Given the description of an element on the screen output the (x, y) to click on. 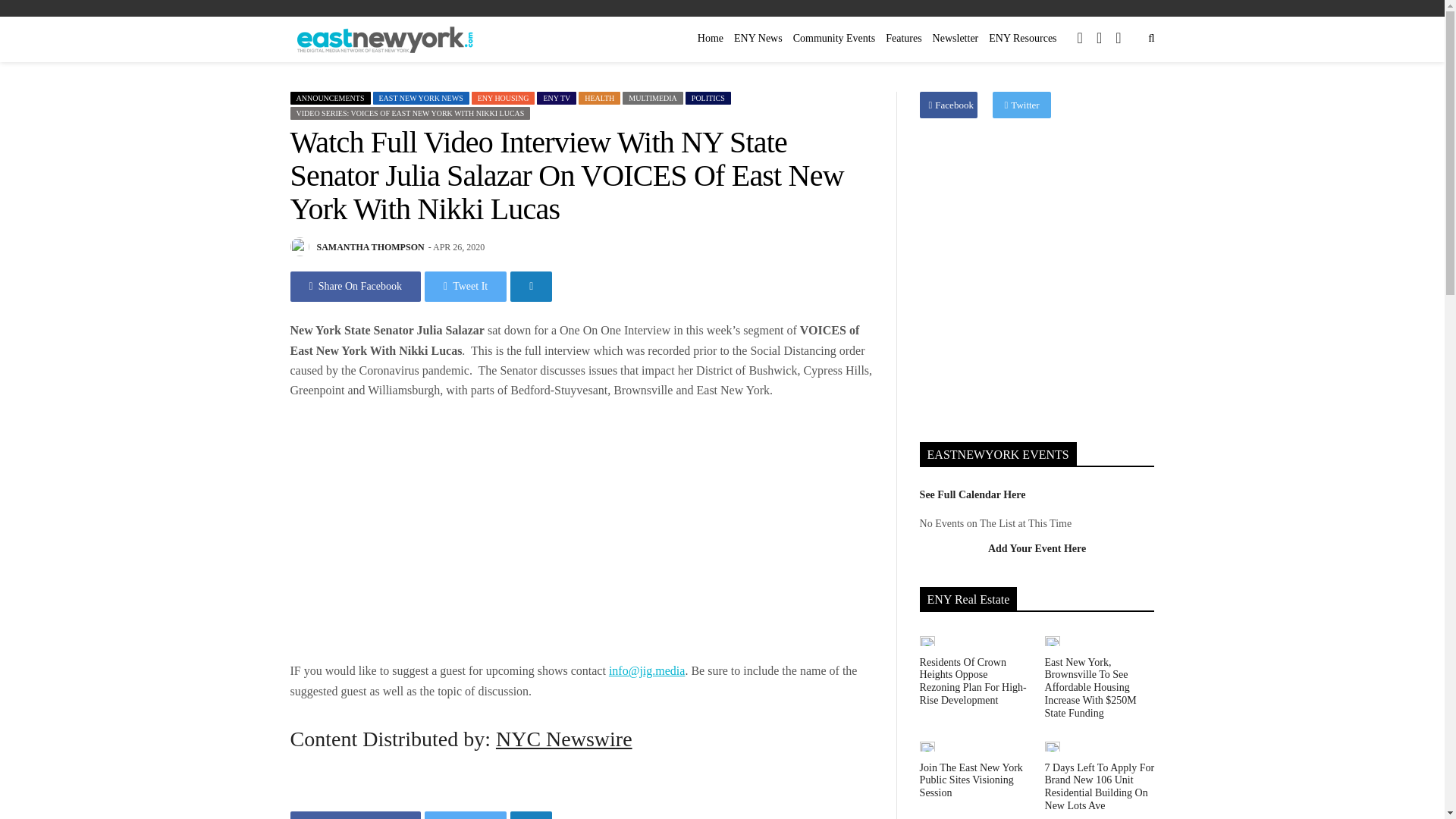
Newsletter (955, 38)
ENY News (758, 38)
Community Events (833, 38)
Posts by Samantha Thompson (371, 246)
Home (711, 38)
Features (903, 38)
ENY Resources (1022, 38)
